Given the description of an element on the screen output the (x, y) to click on. 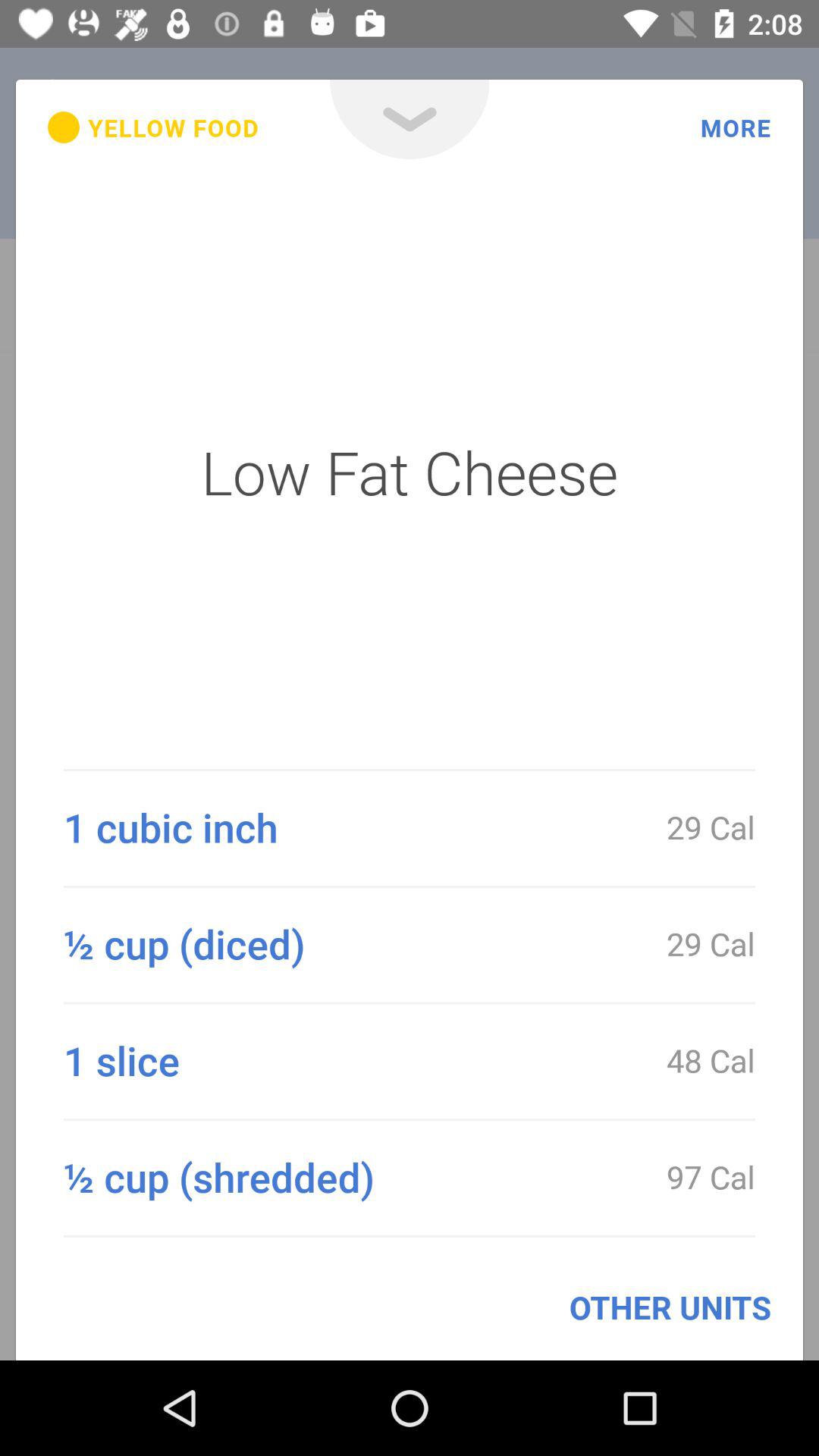
turn off item to the right of the yellow food (409, 119)
